Given the description of an element on the screen output the (x, y) to click on. 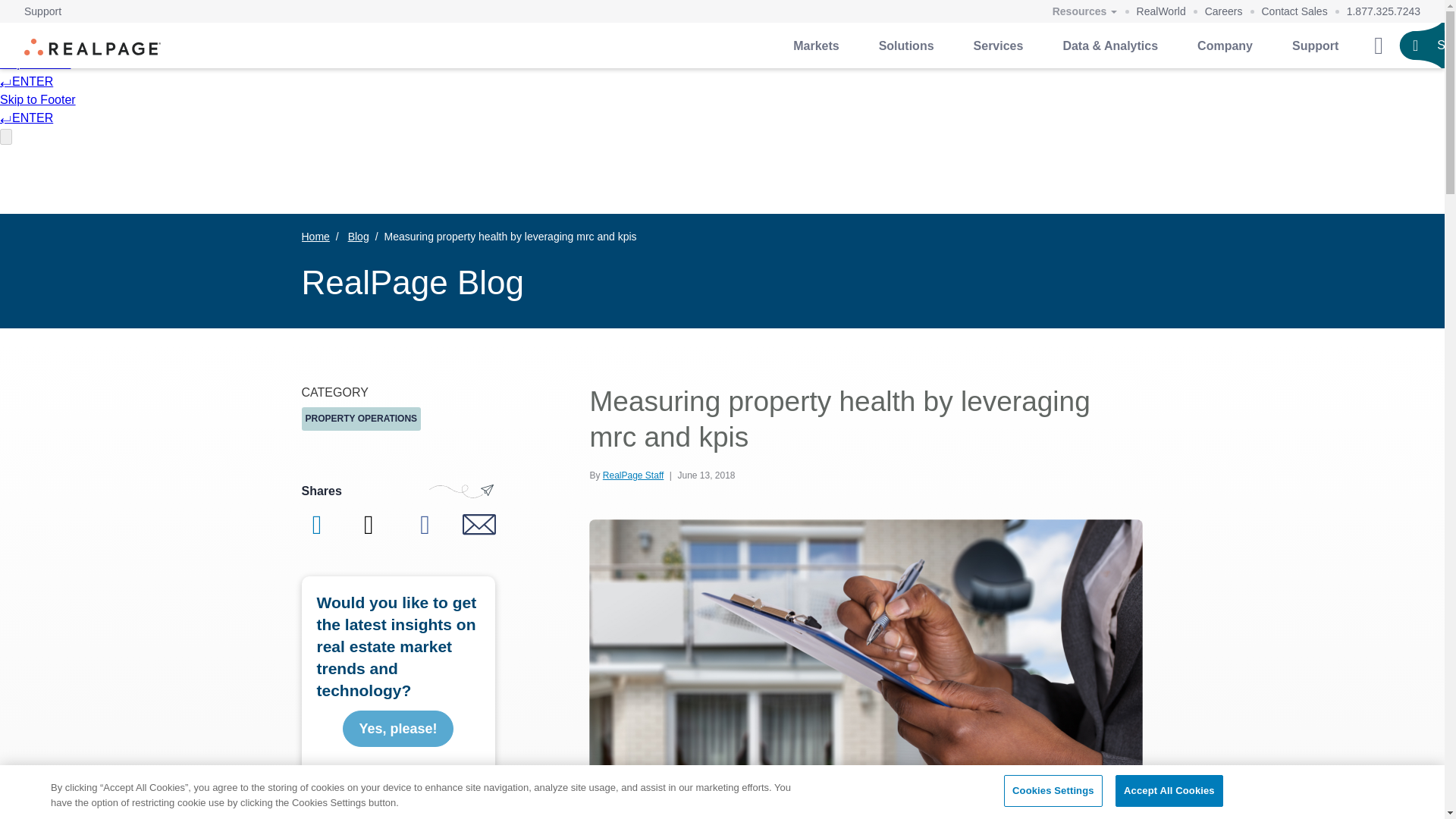
Contact Sales (1294, 11)
Solutions (906, 44)
Markets (816, 44)
Send to a friend (479, 524)
Support (42, 11)
1.877.325.7243 (1383, 11)
Careers (1224, 11)
Contact Sales (1294, 11)
Resources (1084, 11)
RealWorld (1161, 11)
RealWorld (1161, 11)
Careers (1224, 11)
Support (42, 11)
